Given the description of an element on the screen output the (x, y) to click on. 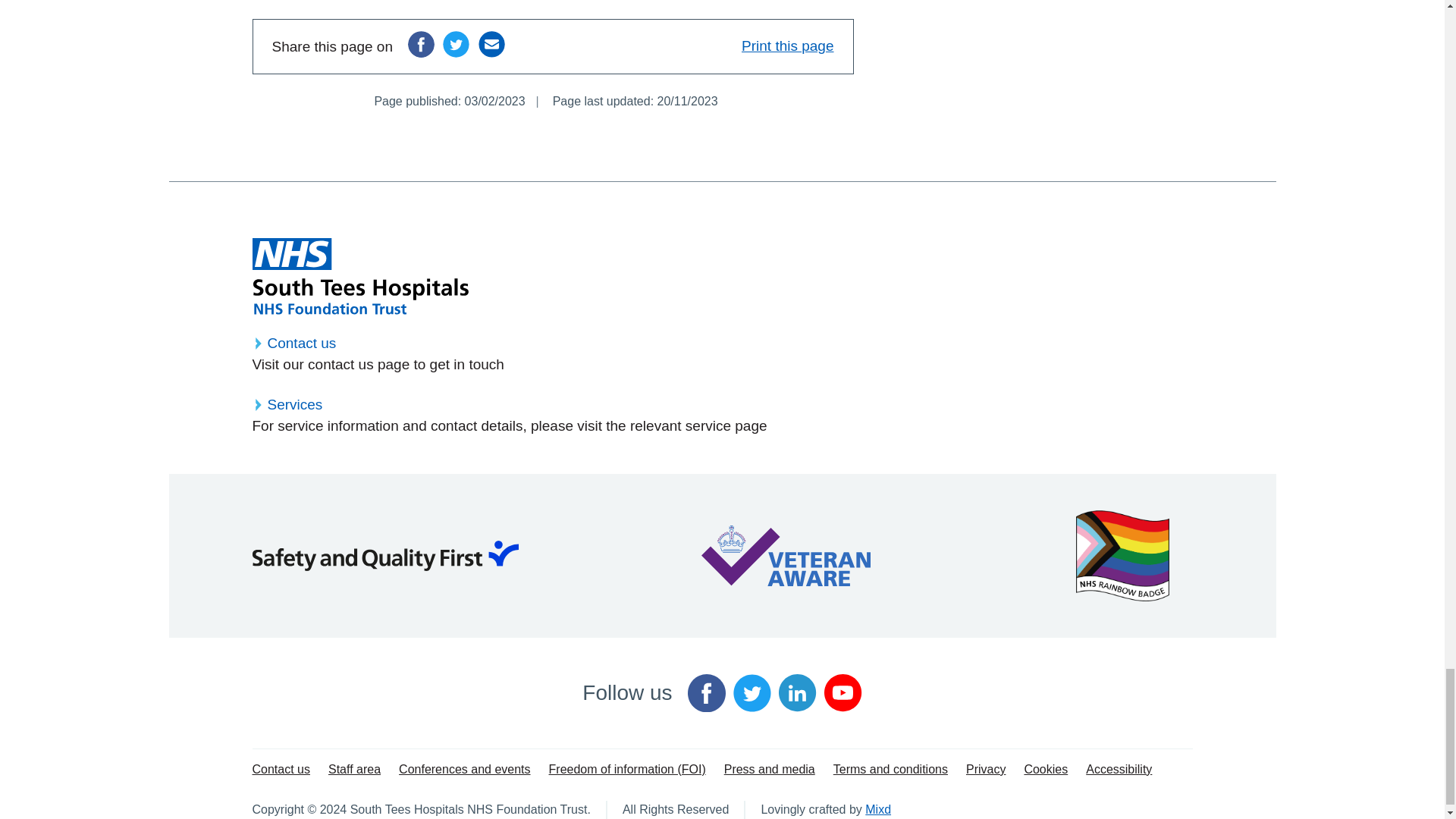
Share on Facebook (420, 44)
South Tees Hospitals NHS Foundation Trust Homepage (359, 276)
Share via Email (492, 44)
Share on Twitter (455, 44)
